Given the description of an element on the screen output the (x, y) to click on. 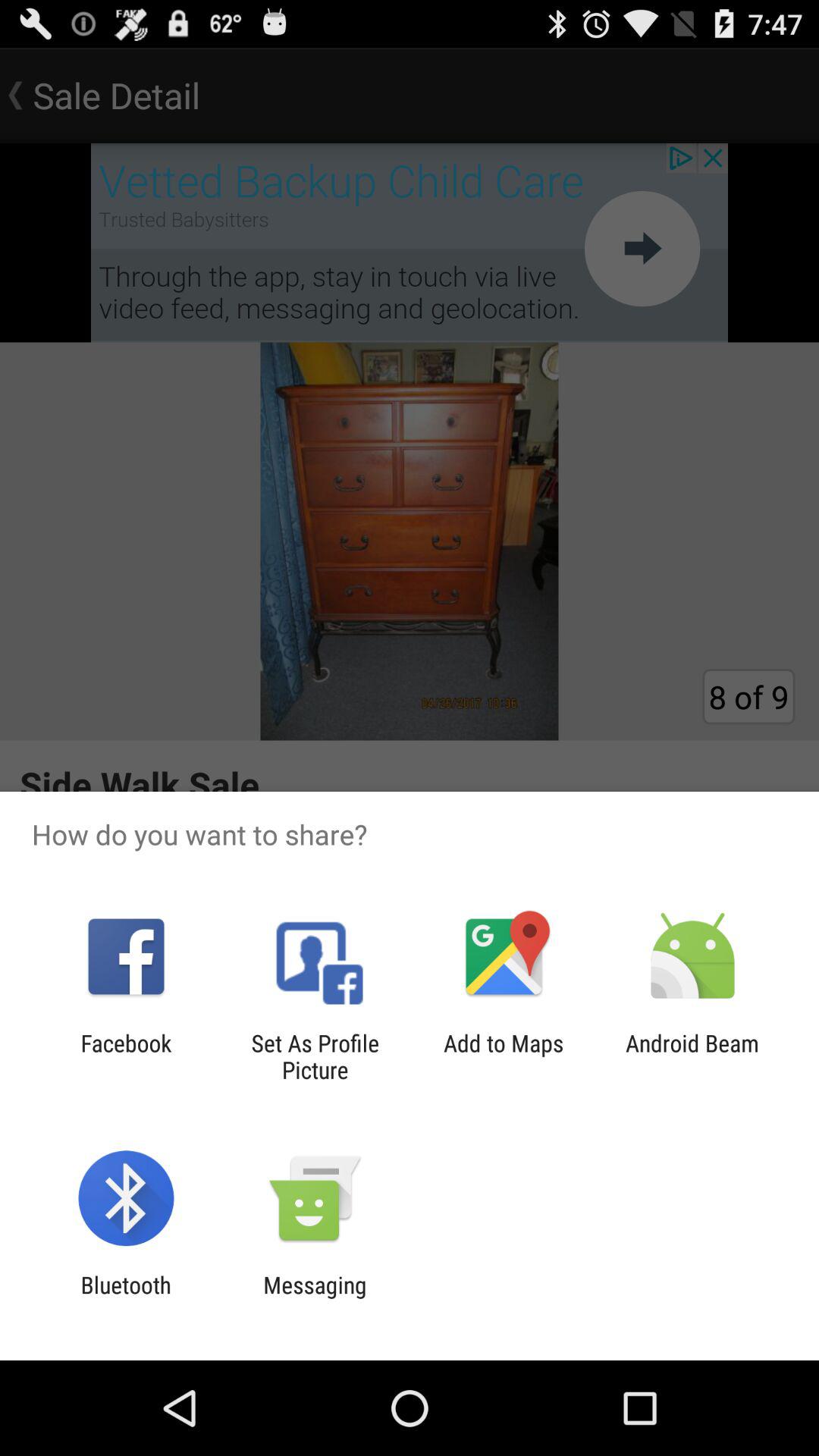
open the item to the left of the android beam item (503, 1056)
